Given the description of an element on the screen output the (x, y) to click on. 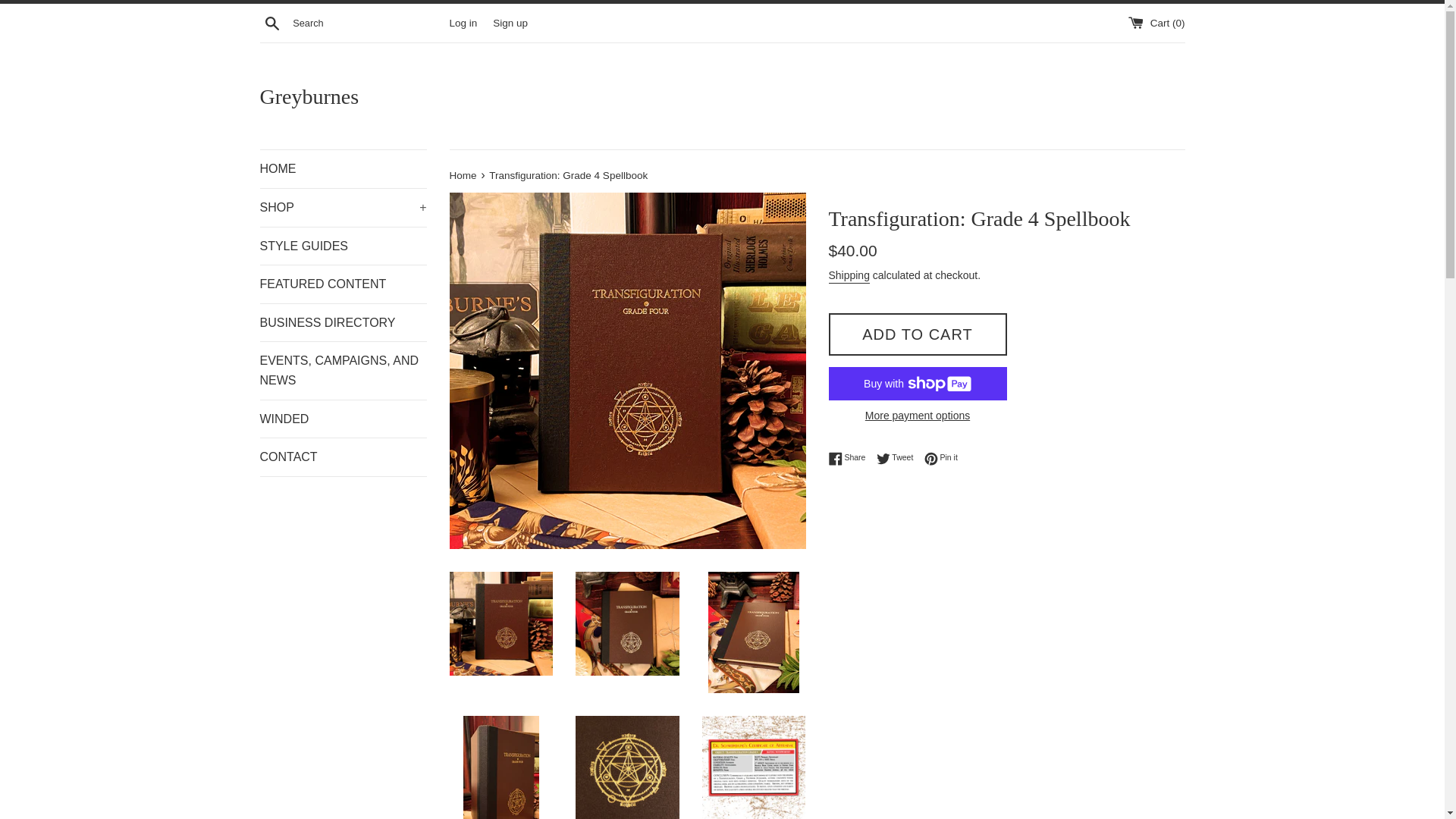
WINDED (342, 419)
Greyburnes (722, 96)
Sign up (510, 21)
EVENTS, CAMPAIGNS, AND NEWS (342, 370)
Share on Facebook (850, 458)
Log in (462, 21)
More payment options (941, 458)
Home (917, 415)
STYLE GUIDES (463, 174)
Pin on Pinterest (342, 246)
FEATURED CONTENT (941, 458)
BUSINESS DIRECTORY (850, 458)
Search (342, 284)
